Given the description of an element on the screen output the (x, y) to click on. 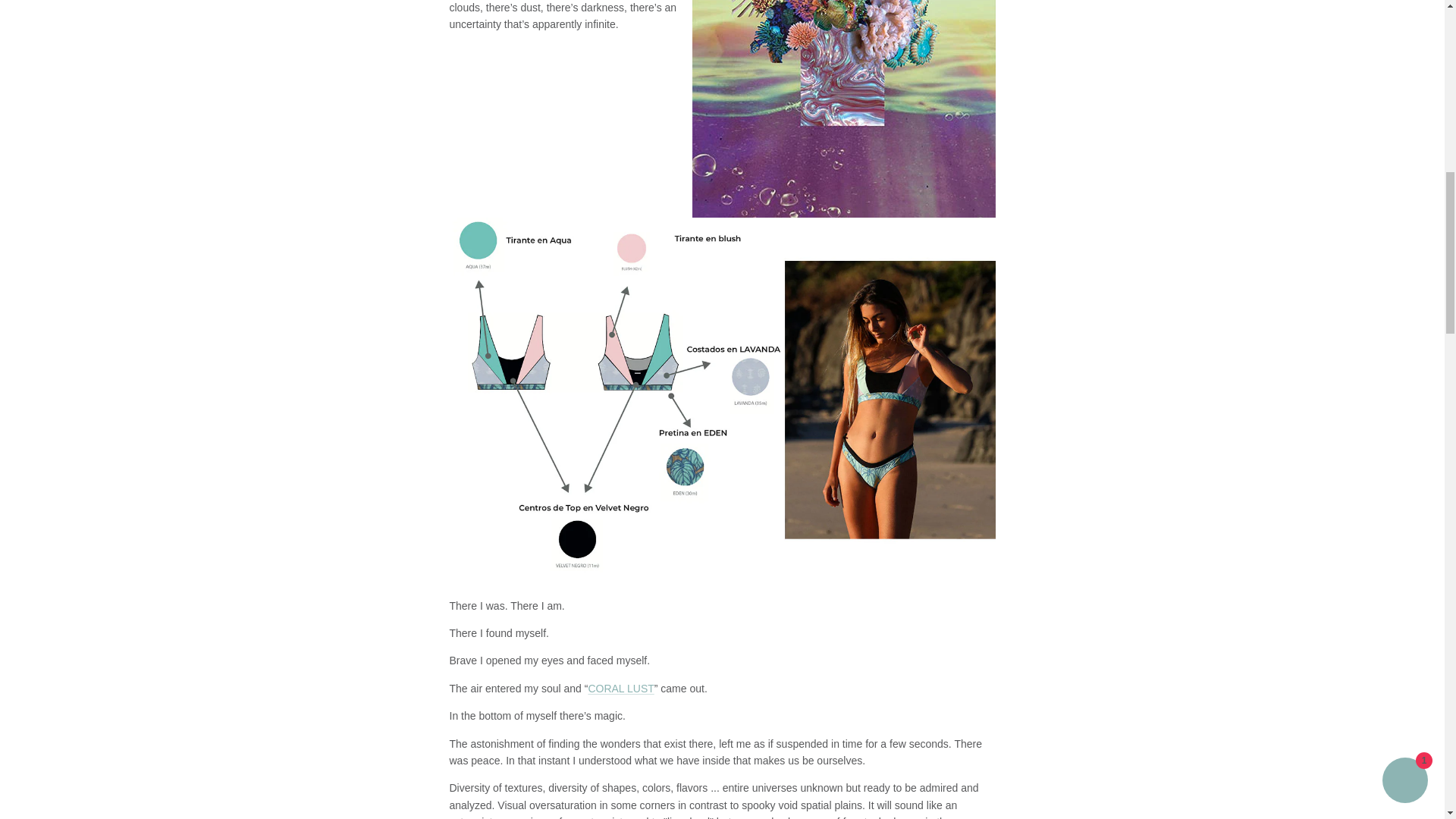
Coral Lust upcycled sustainable swimwear collection (620, 688)
